Given the description of an element on the screen output the (x, y) to click on. 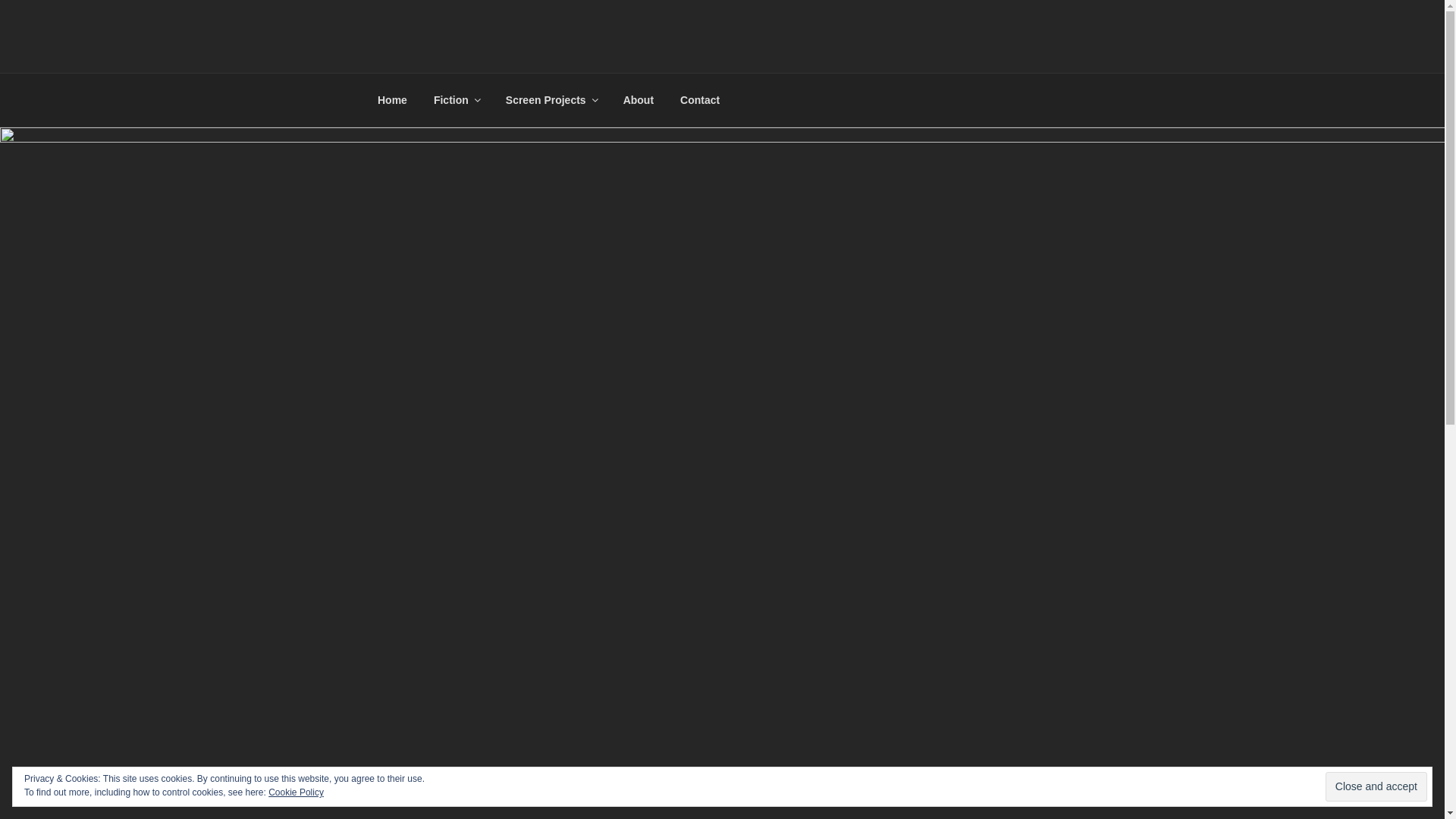
DEBACLE MEDIA Element type: text (506, 53)
Contact Element type: text (700, 100)
Screen Projects Element type: text (550, 100)
Cookie Policy Element type: text (295, 792)
Close and accept Element type: text (1376, 786)
Fiction Element type: text (456, 100)
Home Element type: text (392, 100)
About Element type: text (637, 100)
